Given the description of an element on the screen output the (x, y) to click on. 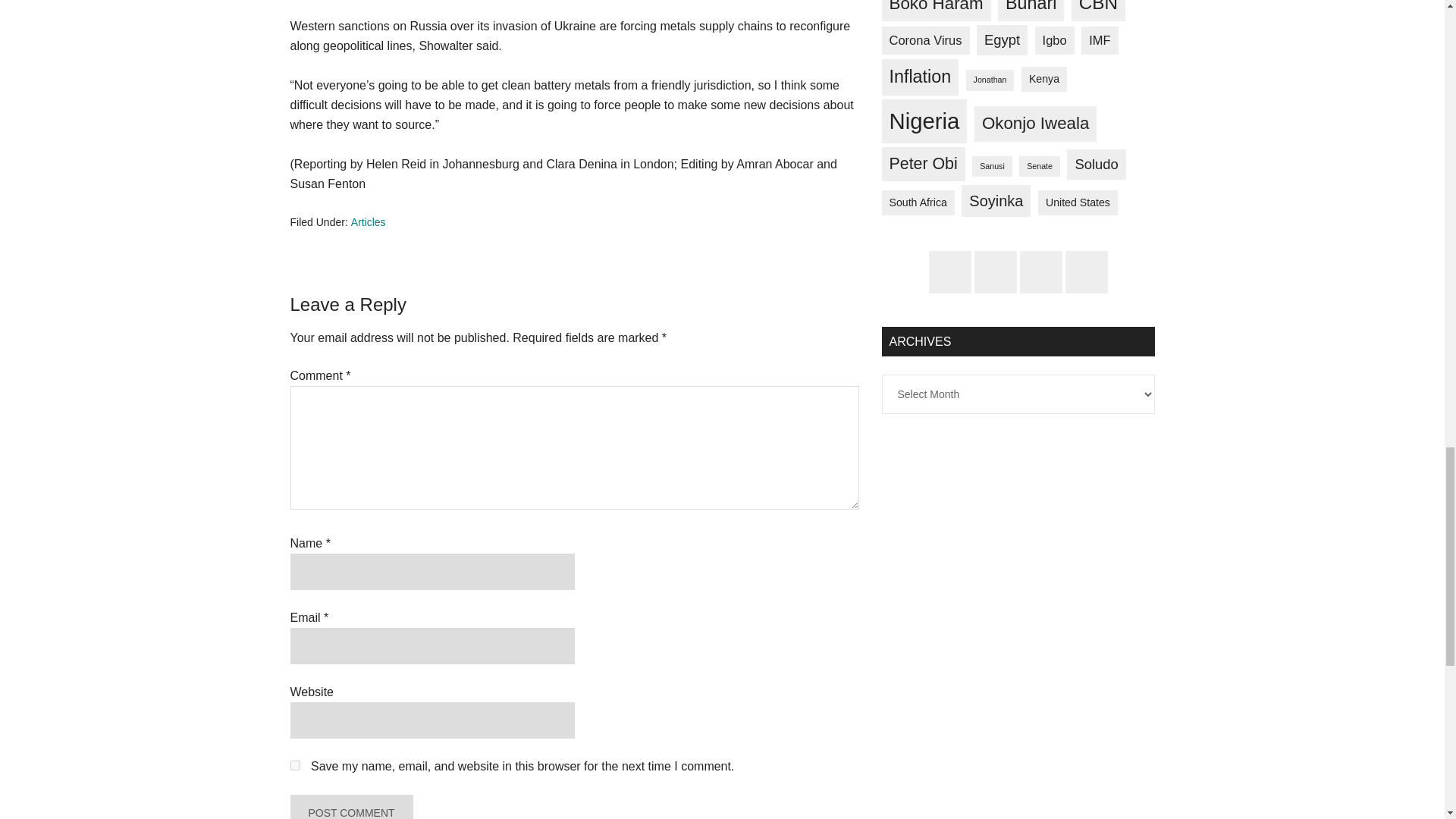
Boko Haram (935, 10)
Post Comment (350, 806)
yes (294, 765)
Post Comment (350, 806)
CBN (1098, 10)
Corona Virus (924, 40)
Egypt (1001, 40)
Articles (367, 222)
Buhari (1030, 11)
